Given the description of an element on the screen output the (x, y) to click on. 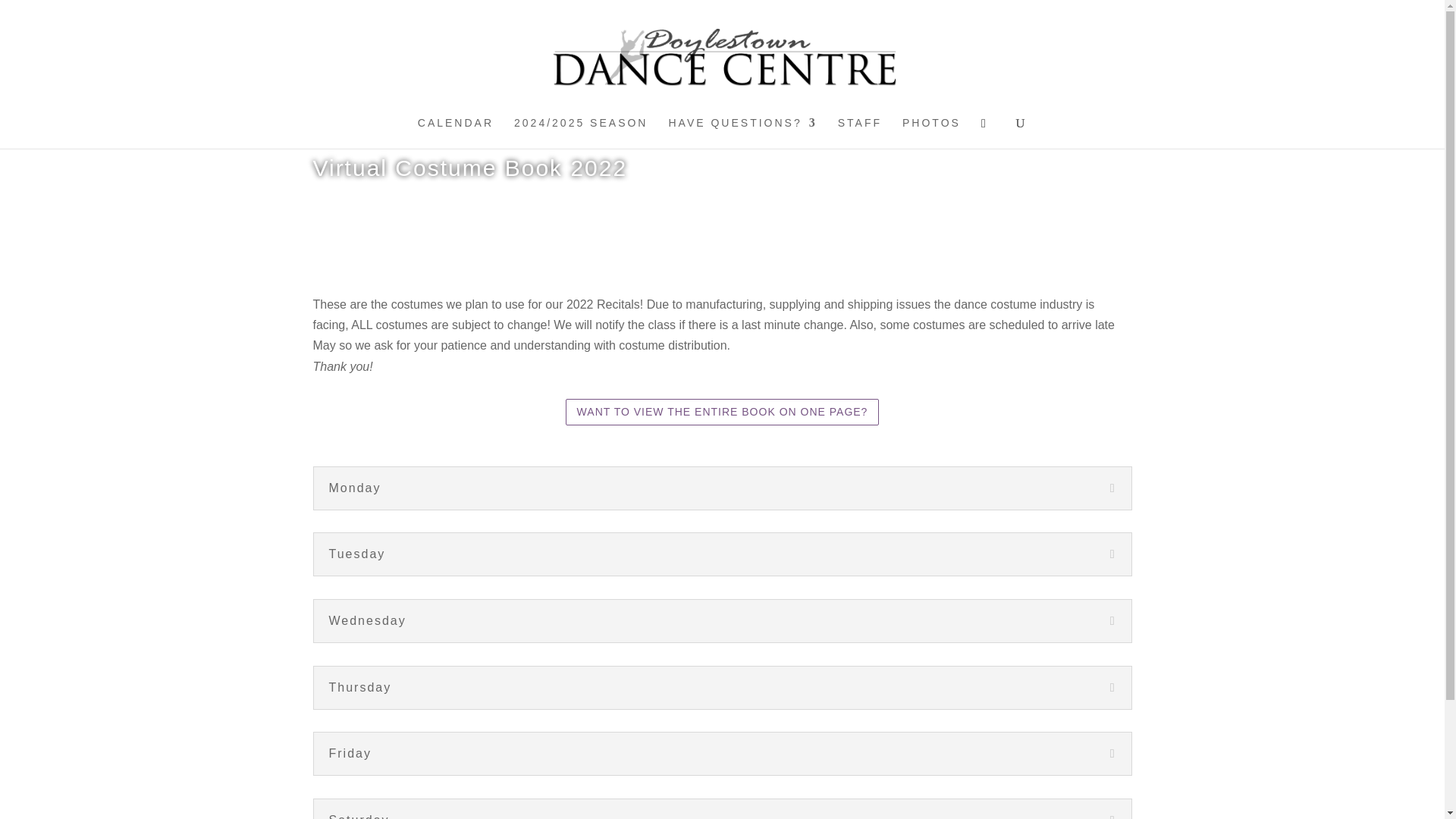
WANT TO VIEW THE ENTIRE BOOK ON ONE PAGE? (722, 411)
CALENDAR (455, 132)
PHOTOS (931, 132)
HAVE QUESTIONS? (742, 132)
STAFF (860, 132)
